Given the description of an element on the screen output the (x, y) to click on. 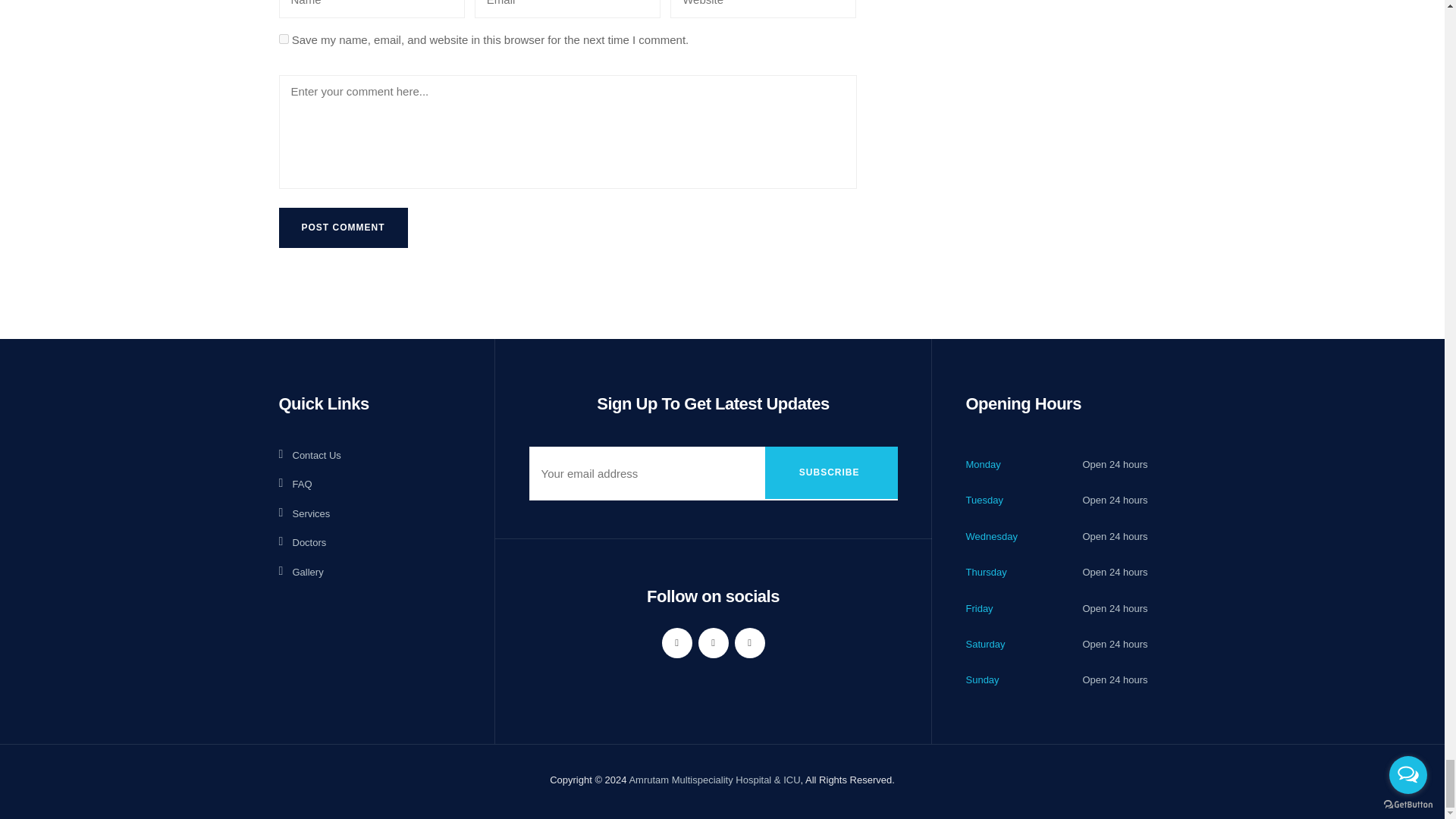
Contact Us (309, 455)
Post Comment (343, 228)
yes (283, 39)
Post Comment (343, 228)
